Given the description of an element on the screen output the (x, y) to click on. 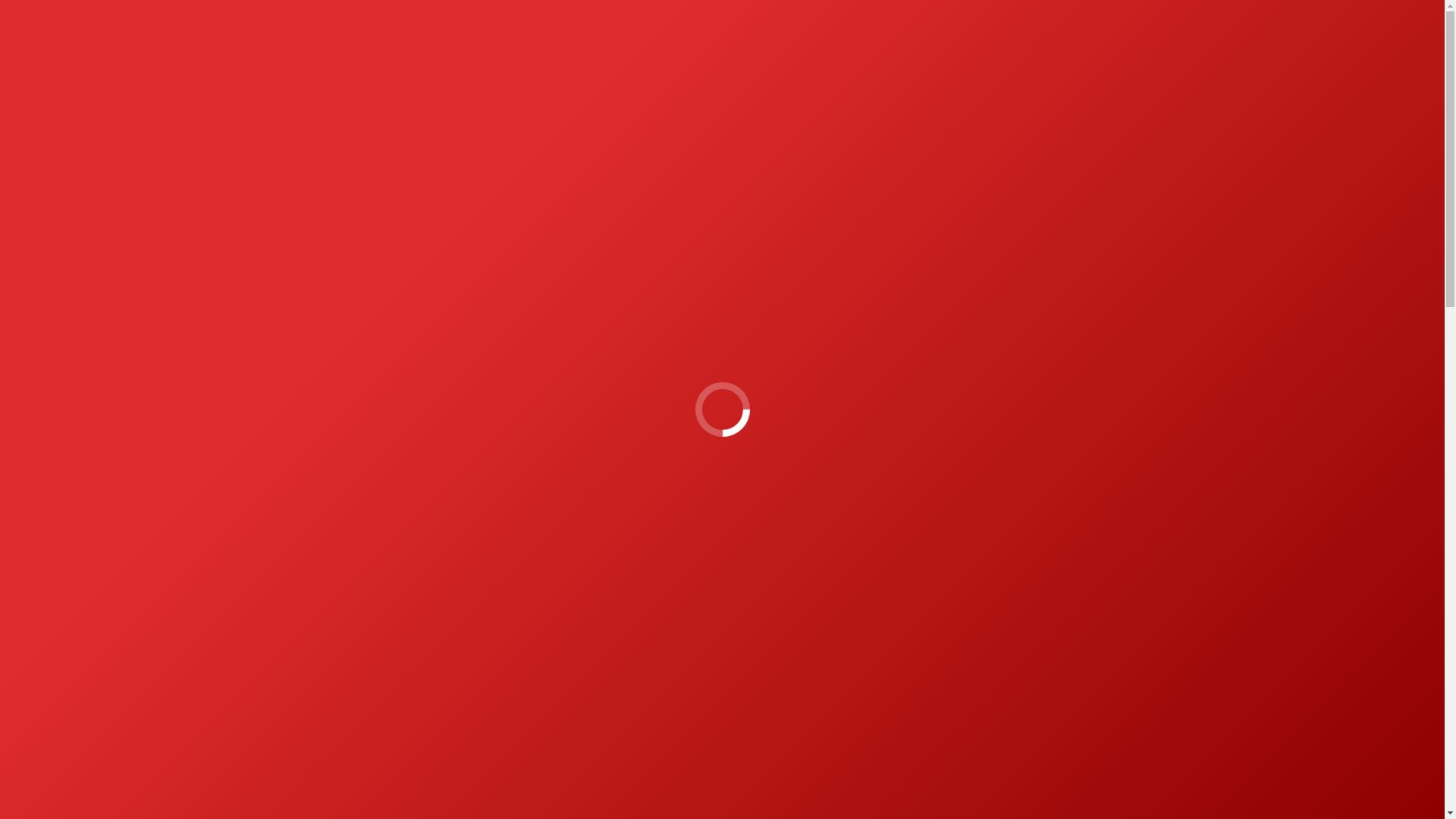
Home (1033, 151)
SHOP (828, 64)
ABOUT (710, 64)
Home (1033, 151)
CONTACT (771, 64)
SERVICES (1133, 12)
Project (648, 64)
Go! (1076, 151)
HOME (24, 17)
